Given the description of an element on the screen output the (x, y) to click on. 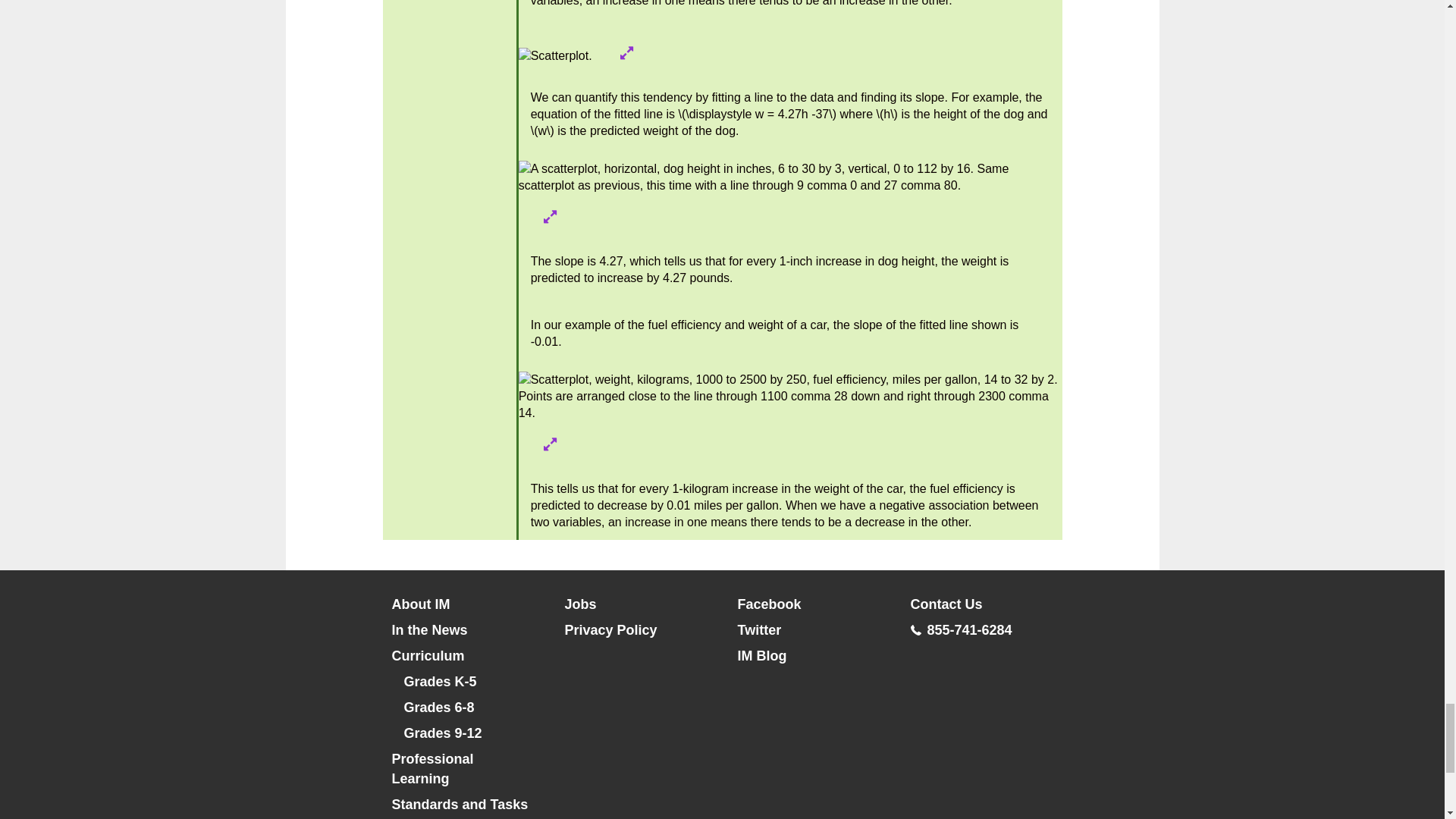
Expand image (550, 216)
Expand image (626, 52)
Expand image (550, 444)
